Given the description of an element on the screen output the (x, y) to click on. 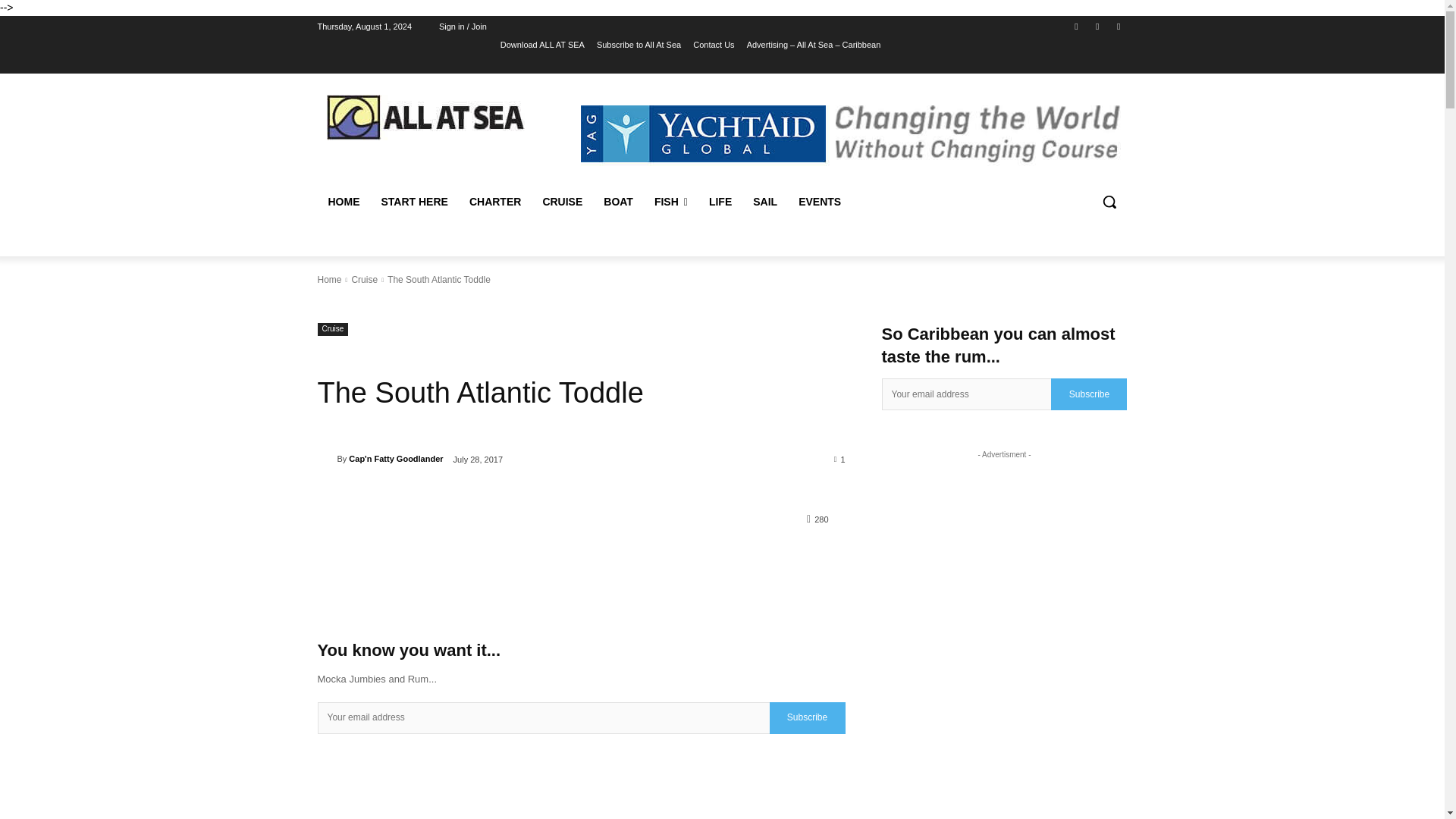
CRUISE (561, 201)
EVENTS (819, 201)
Cap'n Fatty Goodlander (326, 458)
HOME (343, 201)
Instagram (1097, 27)
LIFE (720, 201)
SAIL (764, 201)
START HERE (413, 201)
Facebook (1075, 27)
FISH (670, 201)
Subscribe to All At Sea (638, 44)
Contact Us (713, 44)
Download ALL AT SEA (542, 44)
Twitter (1117, 27)
View all posts in Cruise (363, 279)
